Given the description of an element on the screen output the (x, y) to click on. 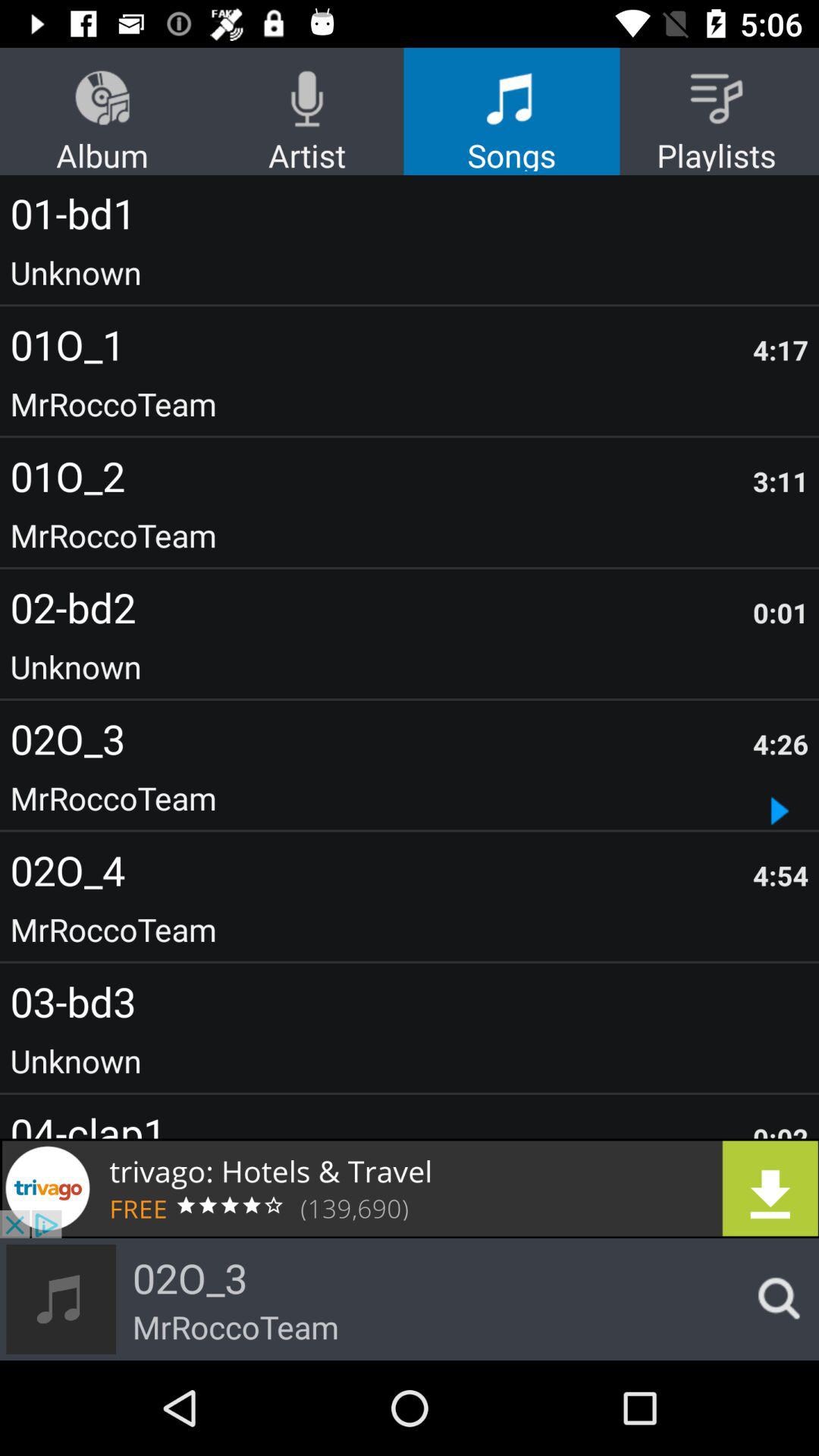
download the link (409, 1188)
